Given the description of an element on the screen output the (x, y) to click on. 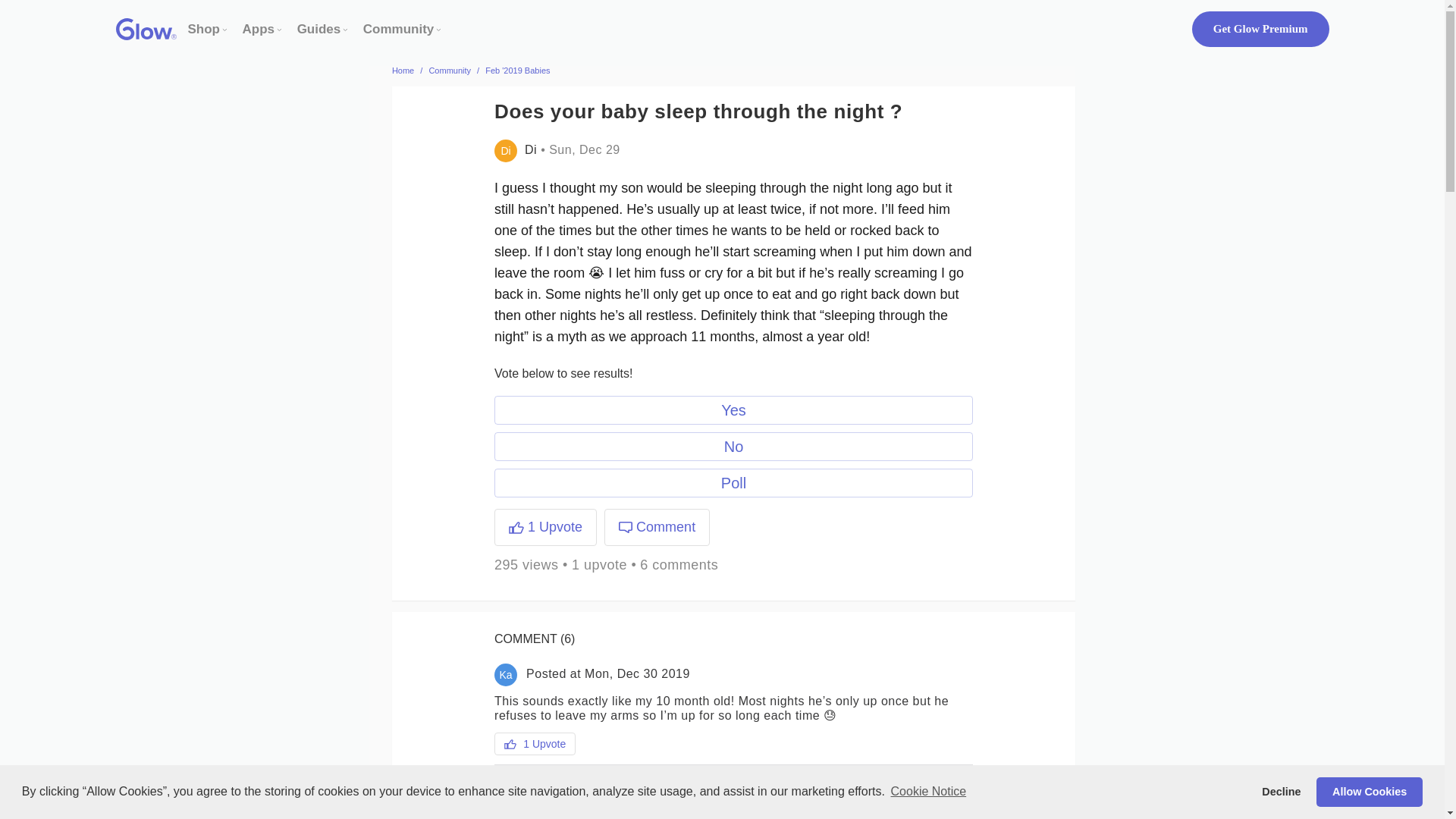
Decline (1281, 791)
Glow Community (397, 28)
Cookie Notice (928, 791)
Shop (204, 28)
Glow Shop (204, 28)
Allow Cookies (1369, 791)
Guides (318, 28)
Apps (259, 28)
